Given the description of an element on the screen output the (x, y) to click on. 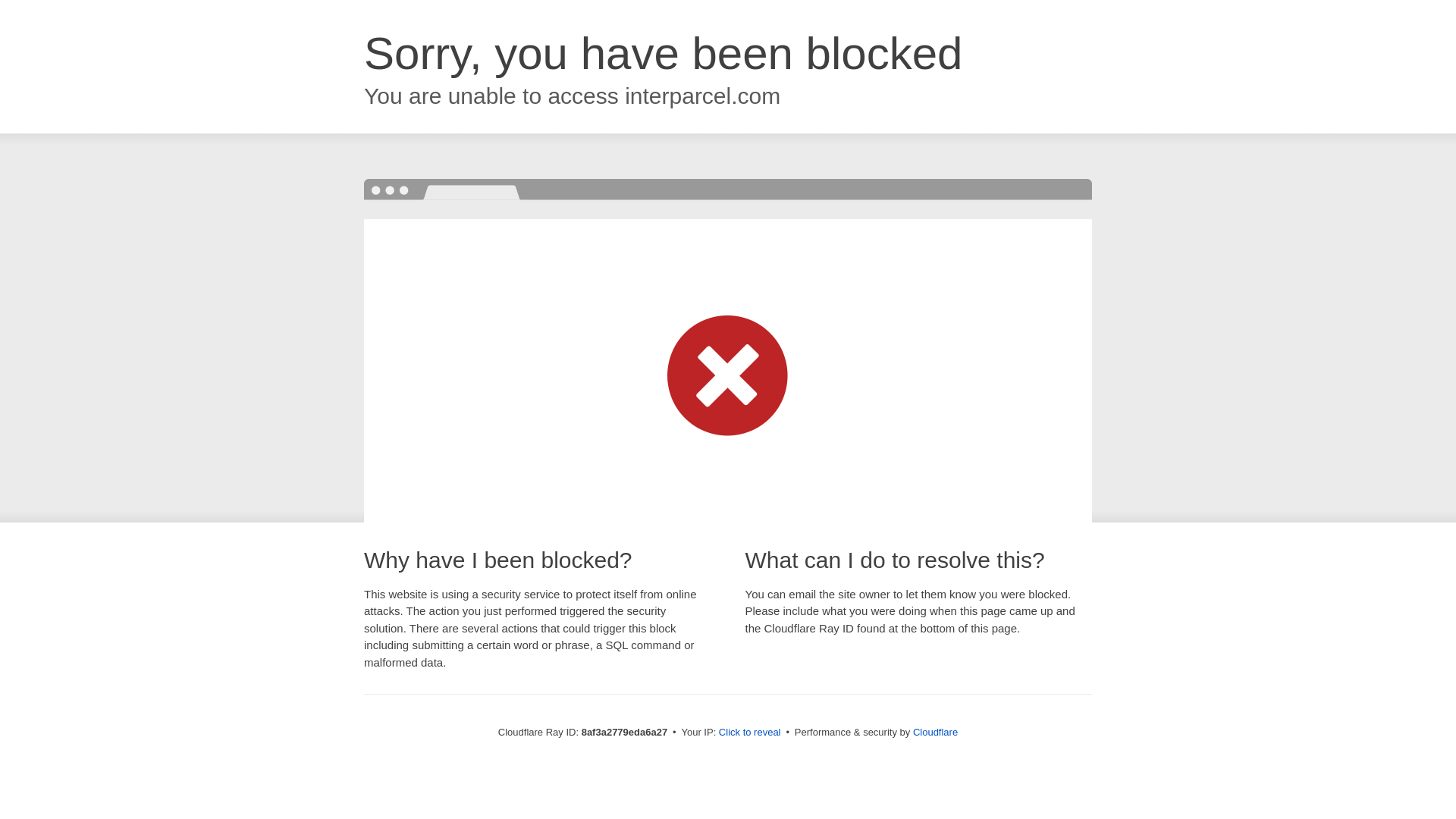
Click to reveal (749, 732)
Cloudflare (935, 731)
